Given the description of an element on the screen output the (x, y) to click on. 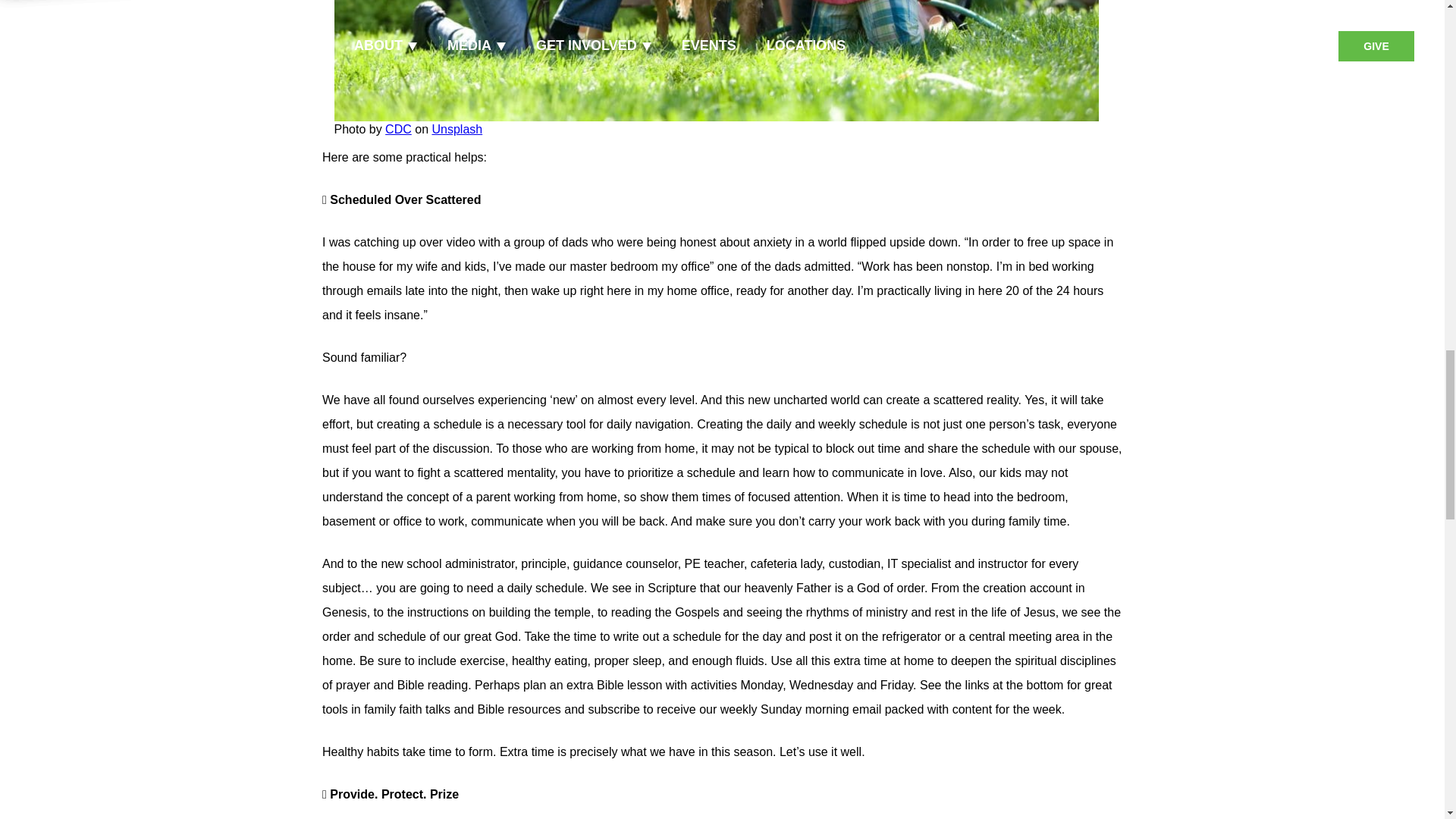
CDC (398, 128)
Unsplash (455, 128)
